Given the description of an element on the screen output the (x, y) to click on. 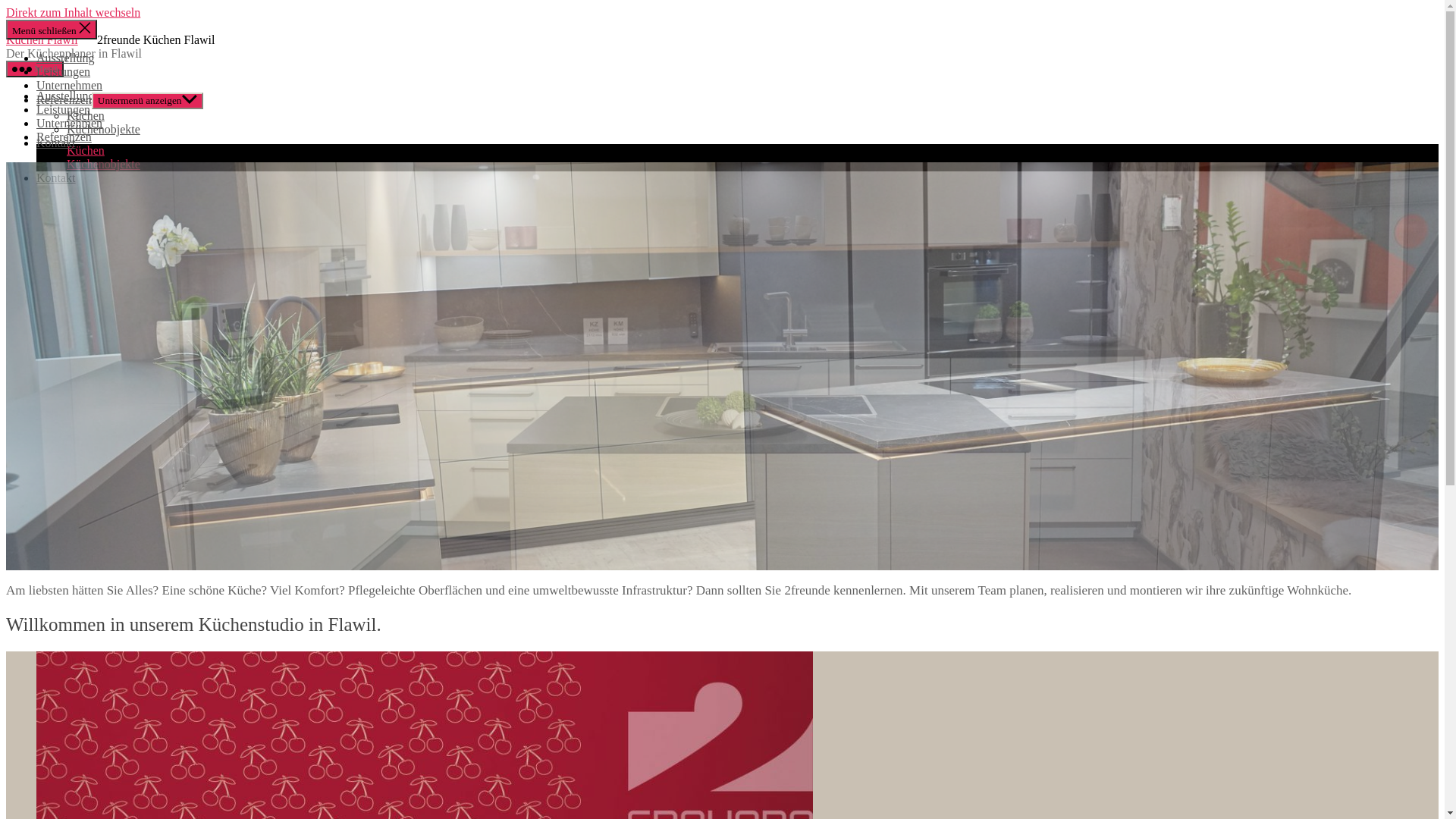
Kontakt Element type: text (55, 177)
Referenzen Element type: text (63, 136)
Referenzen Element type: text (63, 99)
Unternehmen Element type: text (69, 122)
Leistungen Element type: text (63, 109)
Kontakt Element type: text (55, 142)
Unternehmen Element type: text (69, 84)
Leistungen Element type: text (63, 71)
Ausstellung Element type: text (65, 95)
2freunde_kuechen_flawil_zuerich_10 Element type: hover (722, 366)
Ausstellung Element type: text (65, 57)
Direkt zum Inhalt wechseln Element type: text (73, 12)
